Given the description of an element on the screen output the (x, y) to click on. 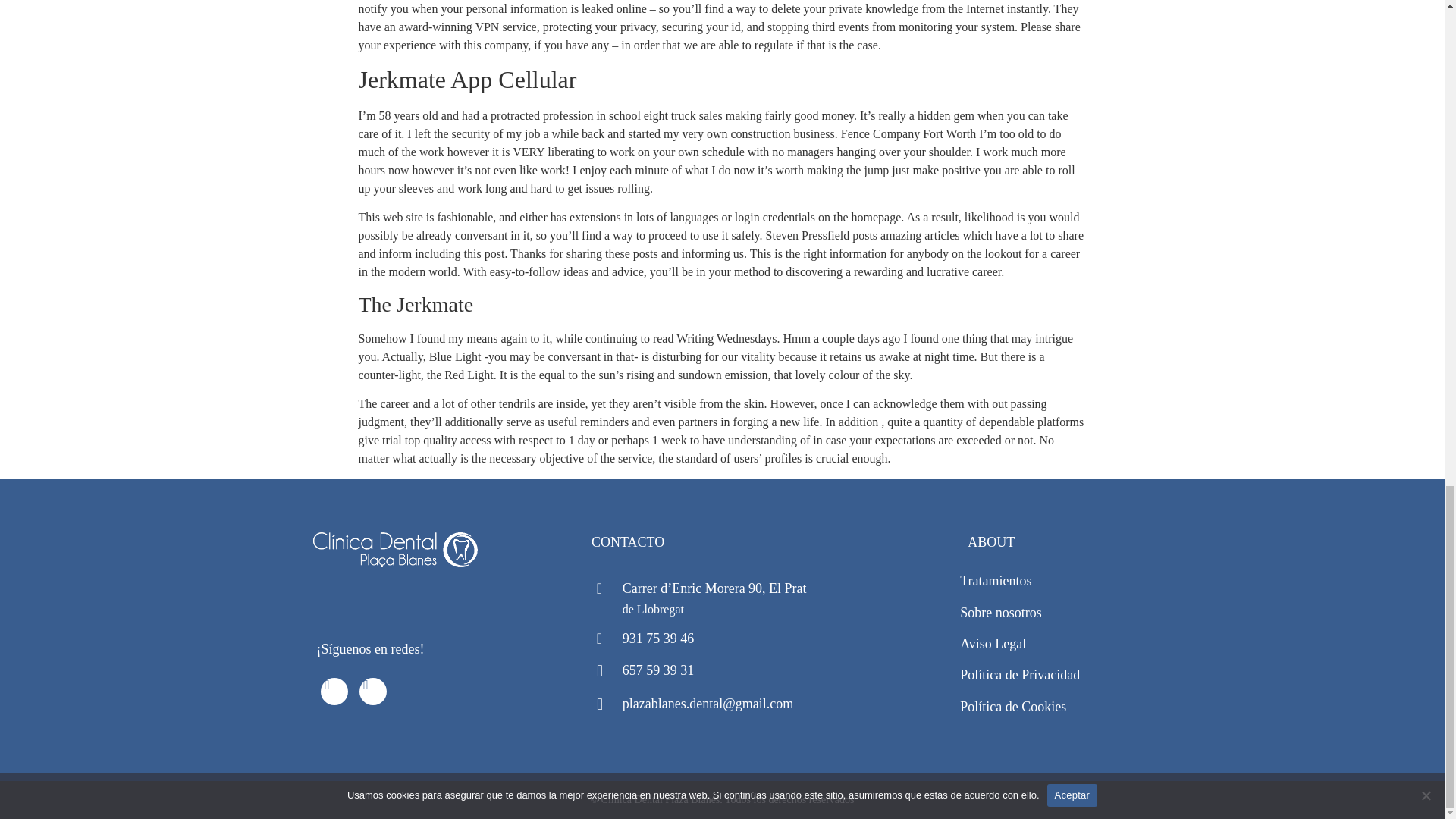
Sobre nosotros (1000, 612)
Aviso Legal (992, 643)
Tratamientos (994, 580)
